Given the description of an element on the screen output the (x, y) to click on. 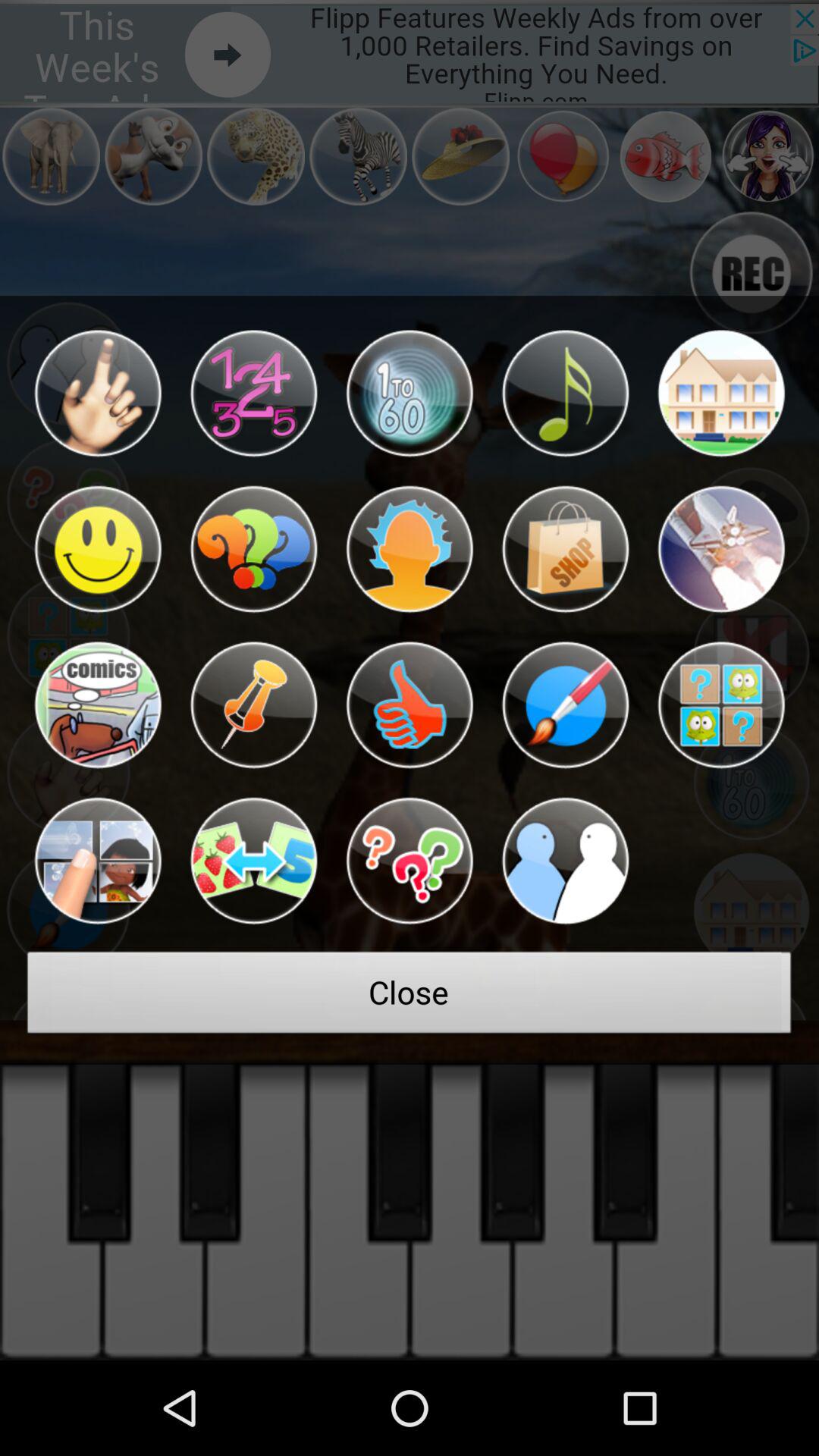
play a rocketship noise (721, 549)
